Given the description of an element on the screen output the (x, y) to click on. 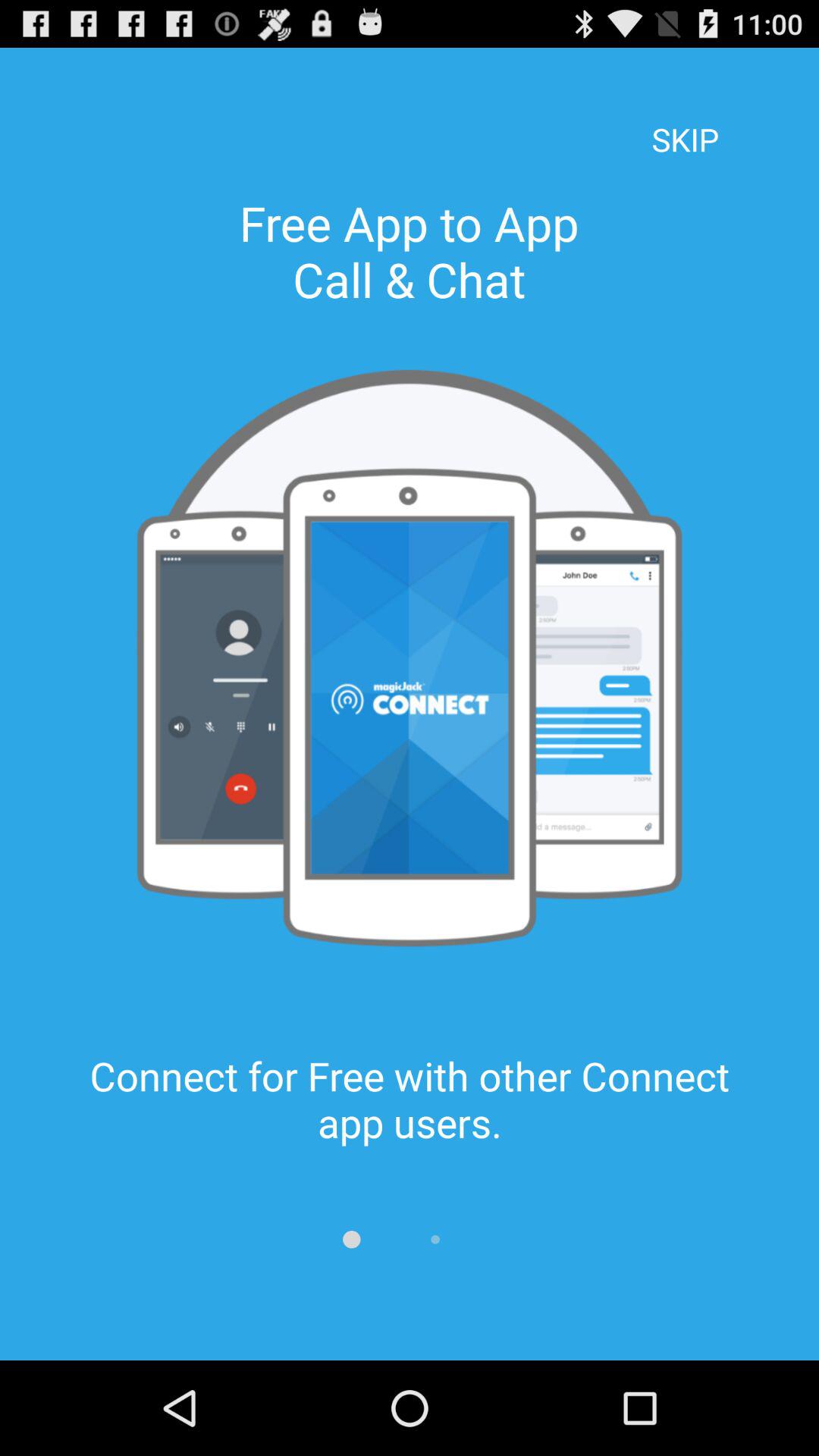
click skip item (685, 119)
